Given the description of an element on the screen output the (x, y) to click on. 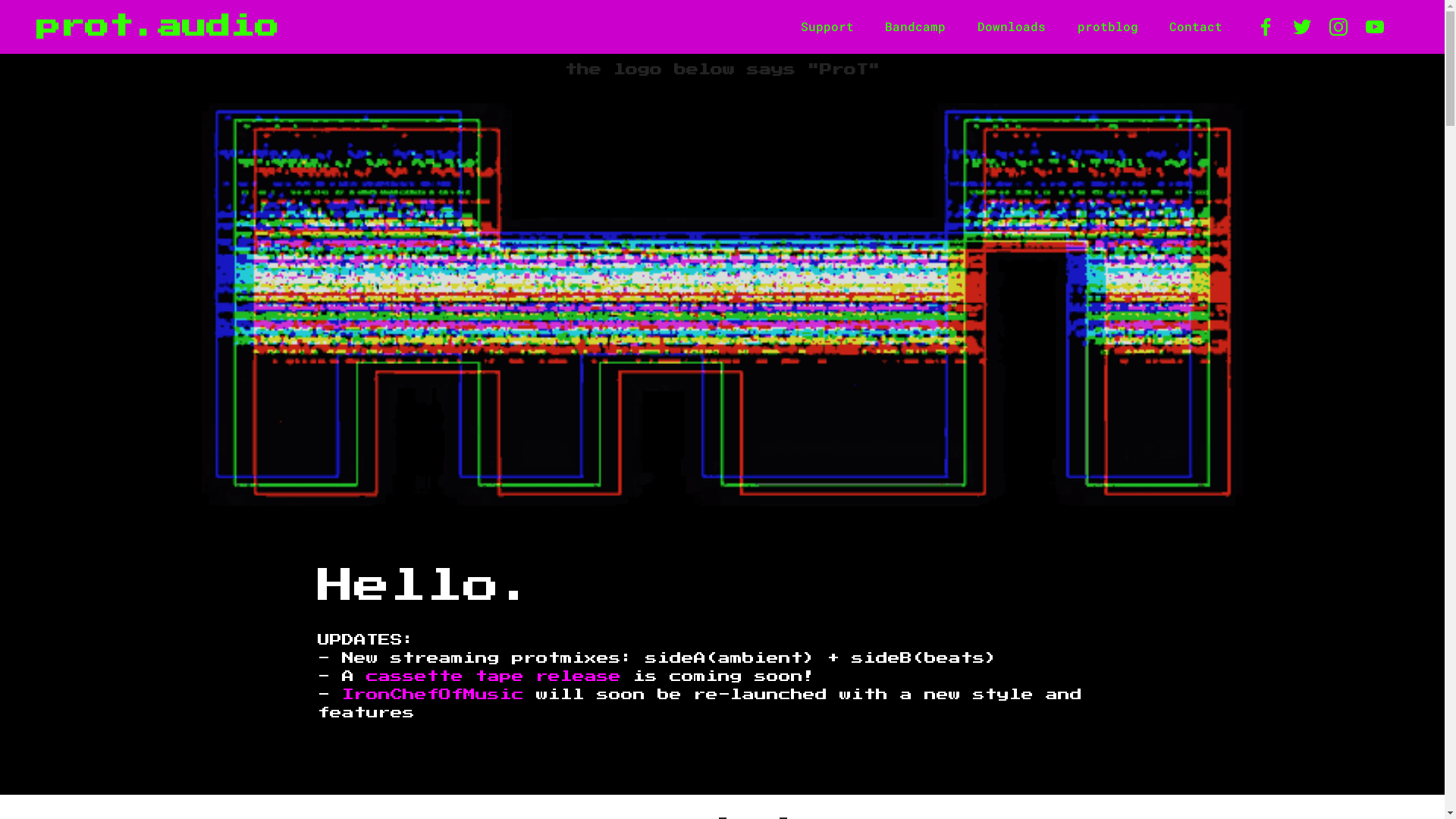
Support Element type: text (827, 26)
Bandcamp Element type: text (915, 26)
Contact Element type: text (1195, 26)
IronChefOfMusic Element type: text (432, 694)
cassette tape release Element type: text (492, 676)
protblog Element type: text (1107, 26)
Downloads Element type: text (1011, 26)
prot.audio Element type: text (157, 26)
